Given the description of an element on the screen output the (x, y) to click on. 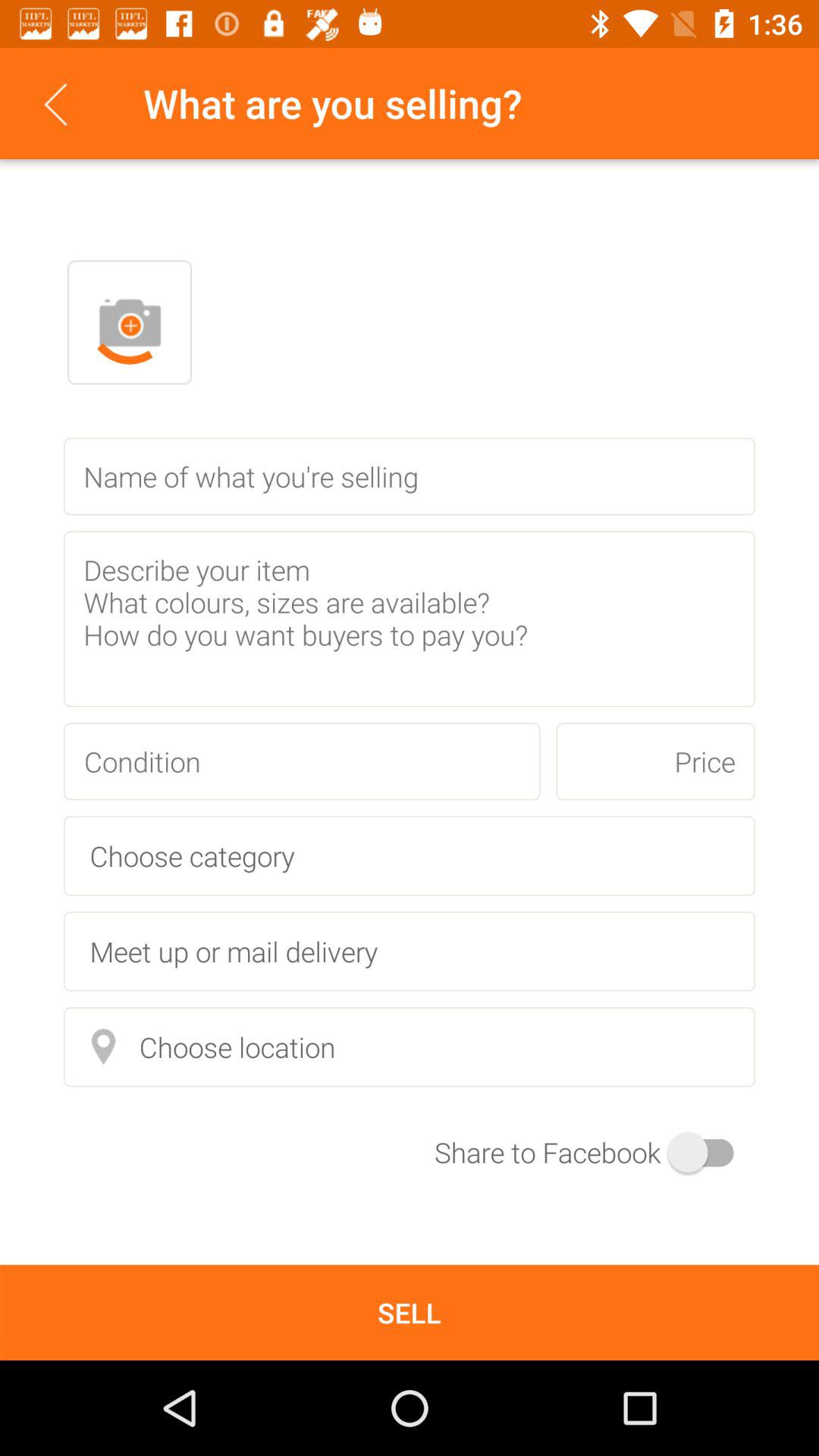
enter item name (409, 476)
